Given the description of an element on the screen output the (x, y) to click on. 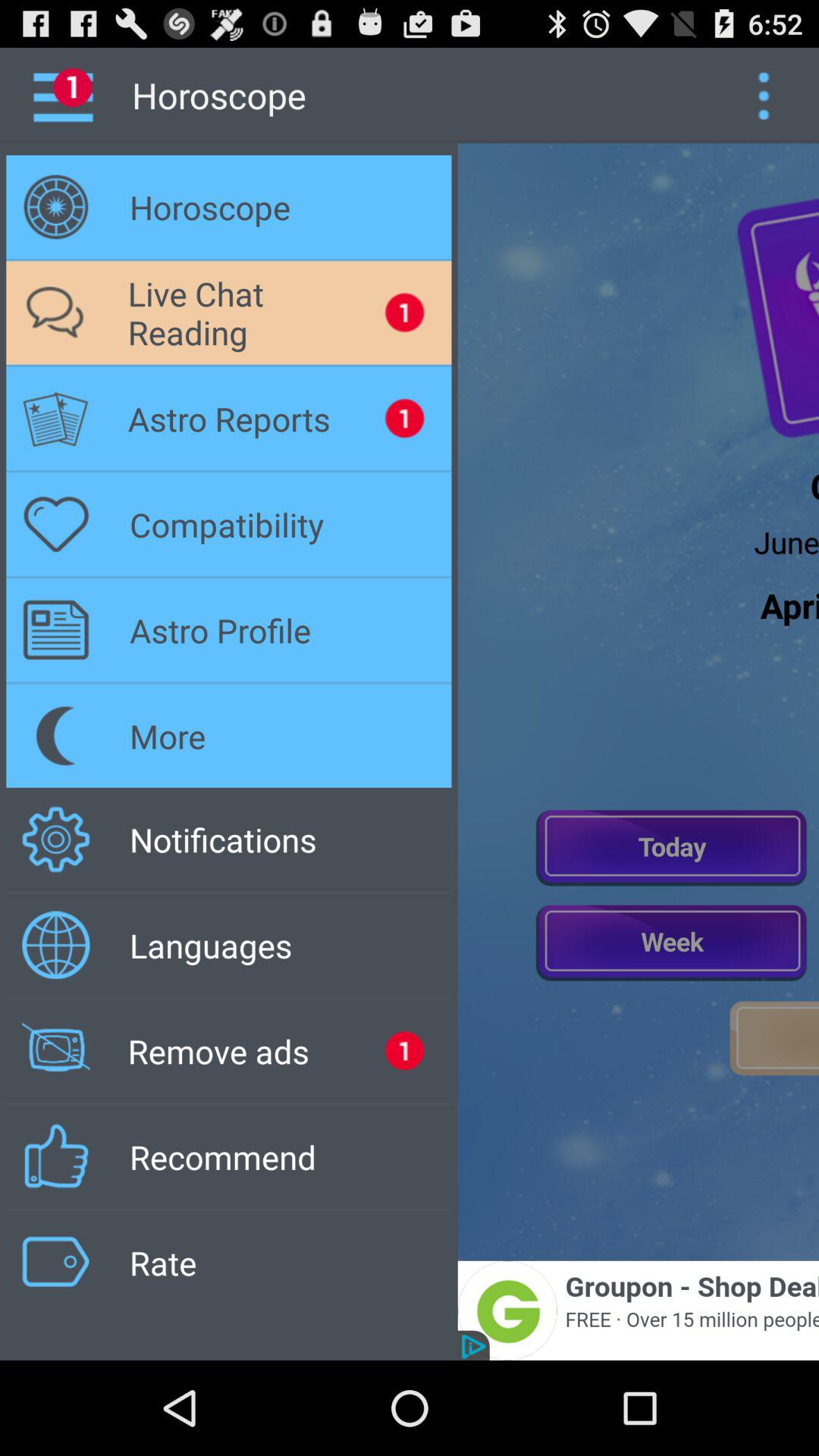
click for advertisement (638, 1310)
